Given the description of an element on the screen output the (x, y) to click on. 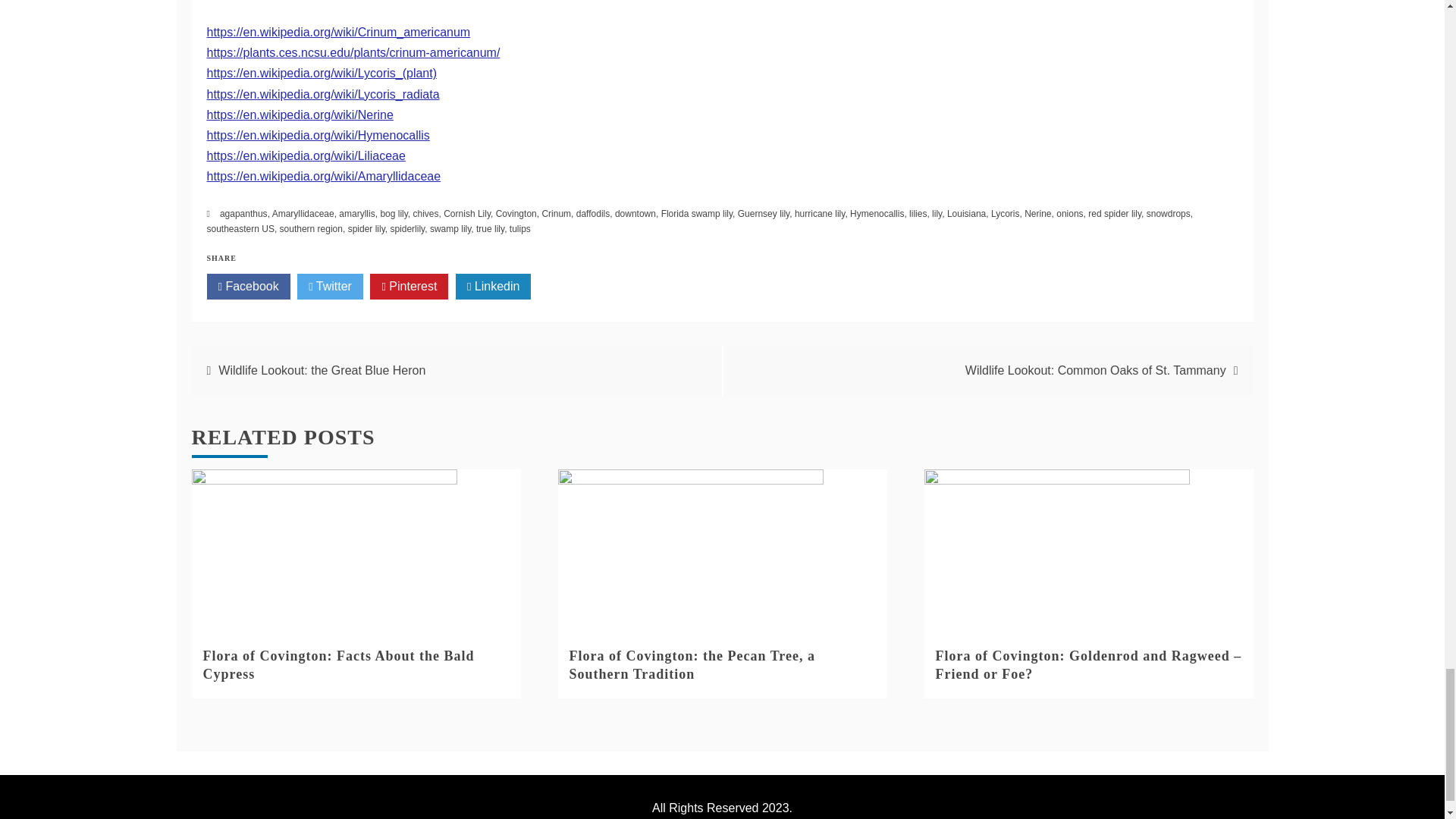
amaryllis (356, 213)
agapanthus (243, 213)
bog lily (393, 213)
Amaryllidaceae (303, 213)
